Given the description of an element on the screen output the (x, y) to click on. 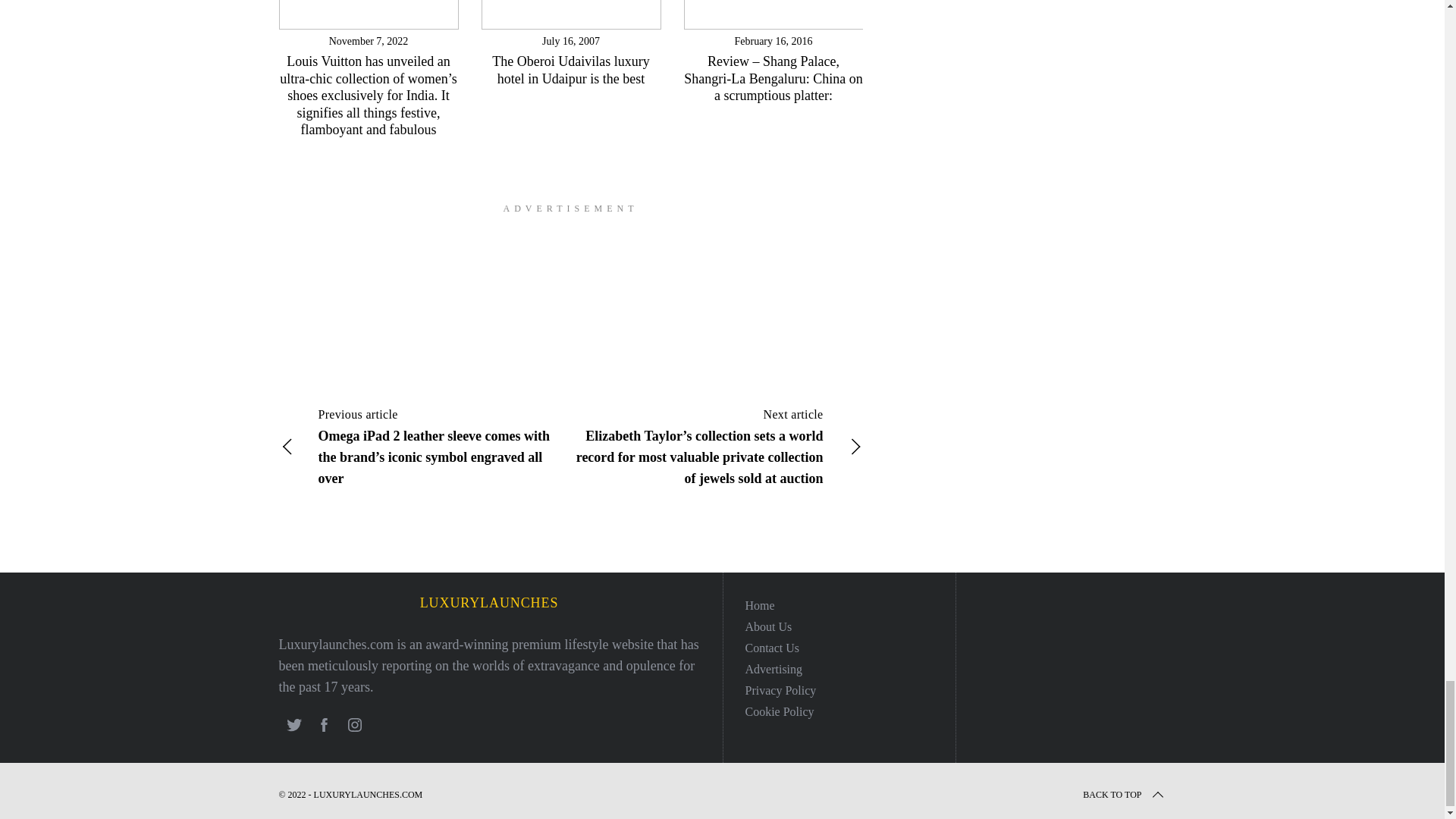
Home (759, 604)
Contact us (771, 647)
Privacy Policy (779, 689)
Cookie Policy (778, 711)
About Us (768, 626)
Advertising (773, 668)
